Given the description of an element on the screen output the (x, y) to click on. 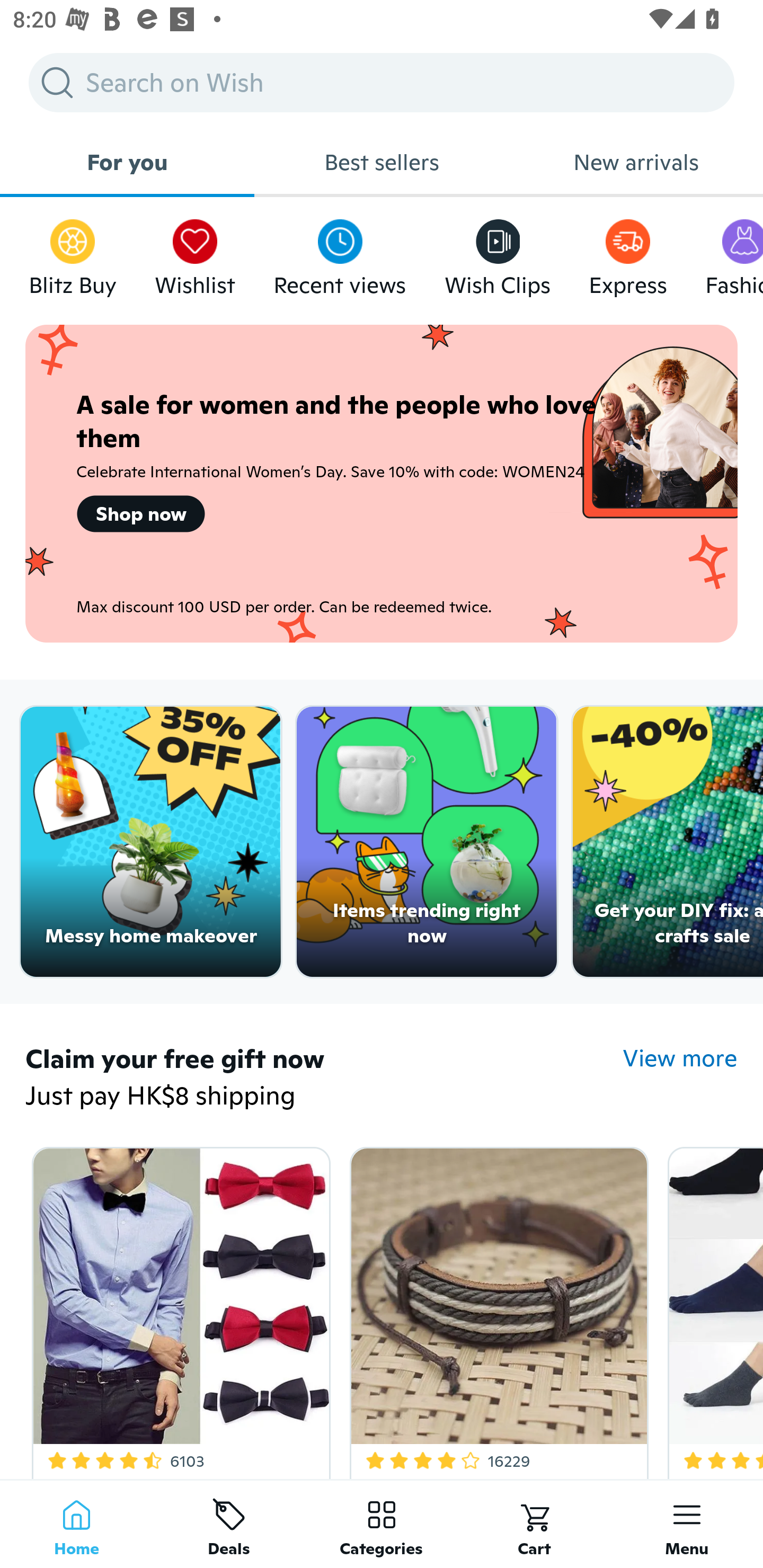
Search on Wish (381, 82)
For you (127, 161)
Best sellers (381, 161)
New arrivals (635, 161)
Blitz Buy (72, 252)
Wishlist (194, 252)
Recent views (339, 252)
Wish Clips (497, 252)
Express (627, 252)
Fashion (734, 252)
Messy home makeover (150, 841)
Items trending right now (426, 841)
Get your DIY fix: arts & crafts sale (668, 841)
Claim your free gift now
Just pay HK$8 shipping (323, 1078)
View more (679, 1058)
4.4 Star Rating 6103 Free (177, 1308)
3.8 Star Rating 16229 Free (495, 1308)
Home (76, 1523)
Deals (228, 1523)
Categories (381, 1523)
Cart (533, 1523)
Menu (686, 1523)
